Given the description of an element on the screen output the (x, y) to click on. 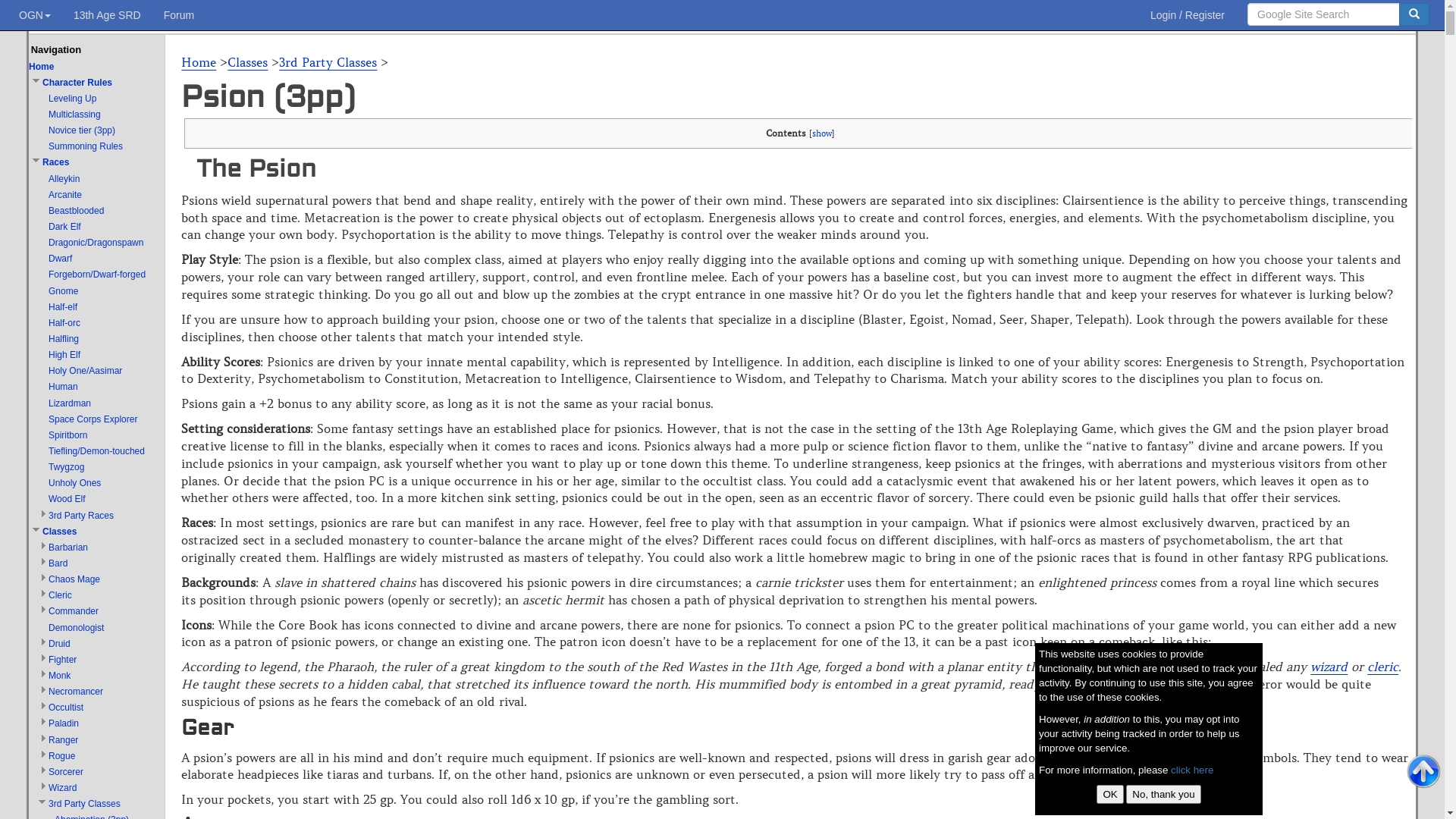
Forgeborn/Dwarf-forged Element type: text (96, 274)
Chaos Mage Element type: text (74, 579)
Barbarian Element type: text (67, 547)
click here Element type: text (1191, 769)
No, thank you Element type: text (1163, 793)
Home Element type: text (40, 66)
Multiclassing Element type: text (74, 114)
Twygzog Element type: text (66, 466)
Tiefling/Demon-touched Element type: text (96, 450)
Necromancer Element type: text (75, 691)
Character Rules Element type: text (77, 82)
Summoning Rules Element type: text (85, 146)
Unholy Ones Element type: text (74, 482)
Human Element type: text (63, 386)
Alleykin Element type: text (63, 178)
Monk Element type: text (59, 675)
Wizard Element type: text (62, 787)
Halfling Element type: text (63, 338)
Spiritborn Element type: text (67, 434)
13th Age SRD Element type: text (107, 15)
Beastblooded Element type: text (75, 210)
Half-elf Element type: text (62, 306)
Novice tier (3pp) Element type: text (81, 130)
Wood Elf Element type: text (66, 498)
Rogue Element type: text (61, 755)
Dark Elf Element type: text (64, 226)
Paladin Element type: text (63, 723)
Cleric Element type: text (60, 594)
Fighter Element type: text (62, 659)
Leveling Up Element type: text (72, 98)
Forum Element type: text (178, 15)
OK Element type: text (1109, 793)
3rd Party Races Element type: text (80, 515)
cleric Element type: text (1382, 666)
3rd Party Classes Element type: text (327, 61)
Classes Element type: text (59, 531)
Login / Register Element type: text (1187, 15)
Lizardman Element type: text (69, 403)
Races Element type: text (55, 161)
Druid Element type: text (59, 643)
Dragonic/Dragonspawn Element type: text (95, 242)
Classes Element type: text (247, 61)
Dwarf Element type: text (60, 258)
Gnome Element type: text (63, 290)
show Element type: text (821, 133)
Arcanite Element type: text (64, 194)
Sorcerer Element type: text (65, 771)
Space Corps Explorer Element type: text (92, 419)
Ranger Element type: text (63, 739)
Commander Element type: text (73, 610)
Home Element type: text (198, 61)
wizard Element type: text (1328, 666)
Half-orc Element type: text (64, 322)
Bard Element type: text (57, 563)
3rd Party Classes Element type: text (84, 803)
Occultist Element type: text (65, 707)
Holy One/Aasimar Element type: text (85, 370)
Demonologist Element type: text (75, 627)
High Elf Element type: text (64, 354)
OGN Element type: text (34, 15)
